Given the description of an element on the screen output the (x, y) to click on. 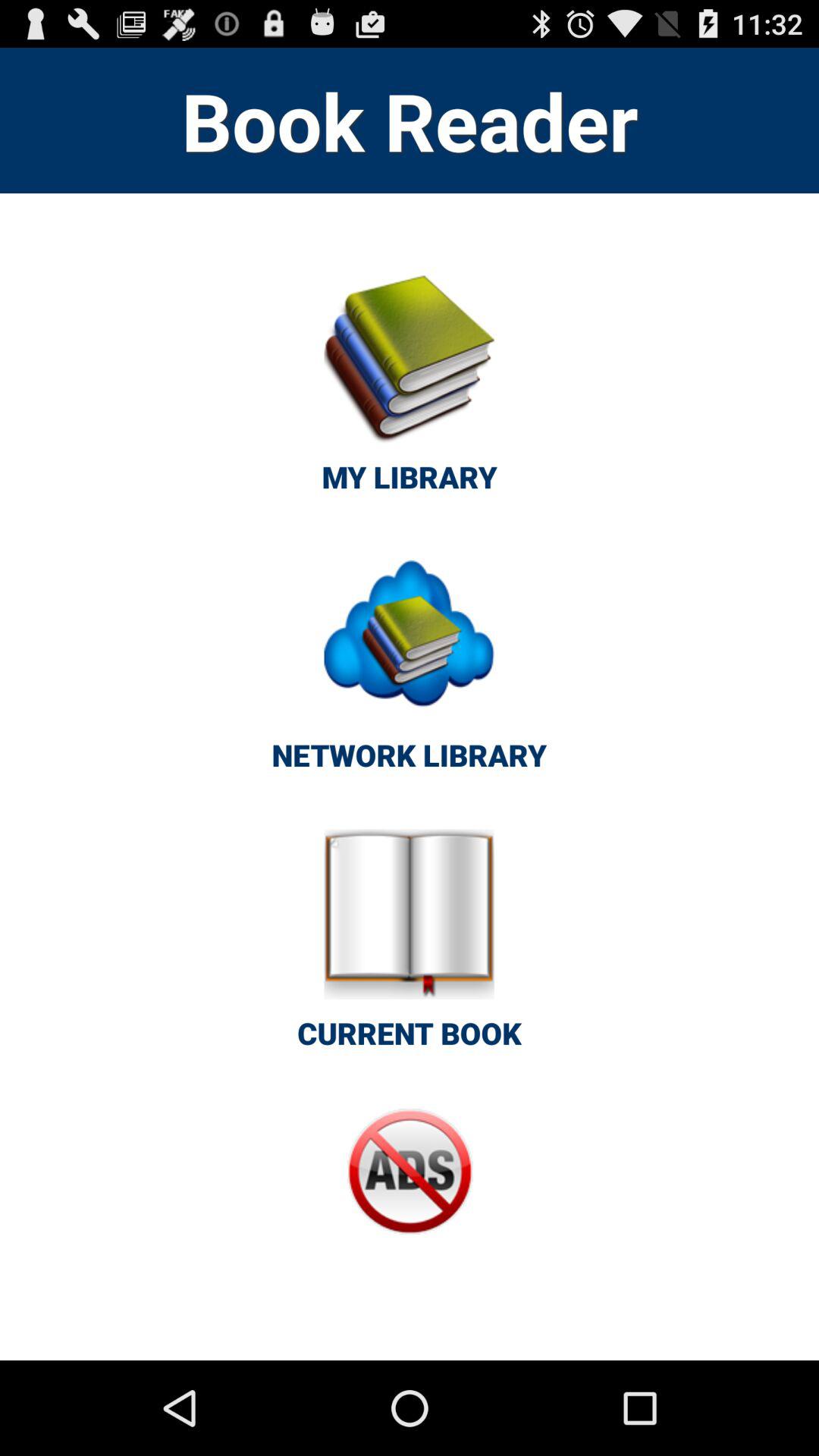
open network library icon (408, 670)
